Given the description of an element on the screen output the (x, y) to click on. 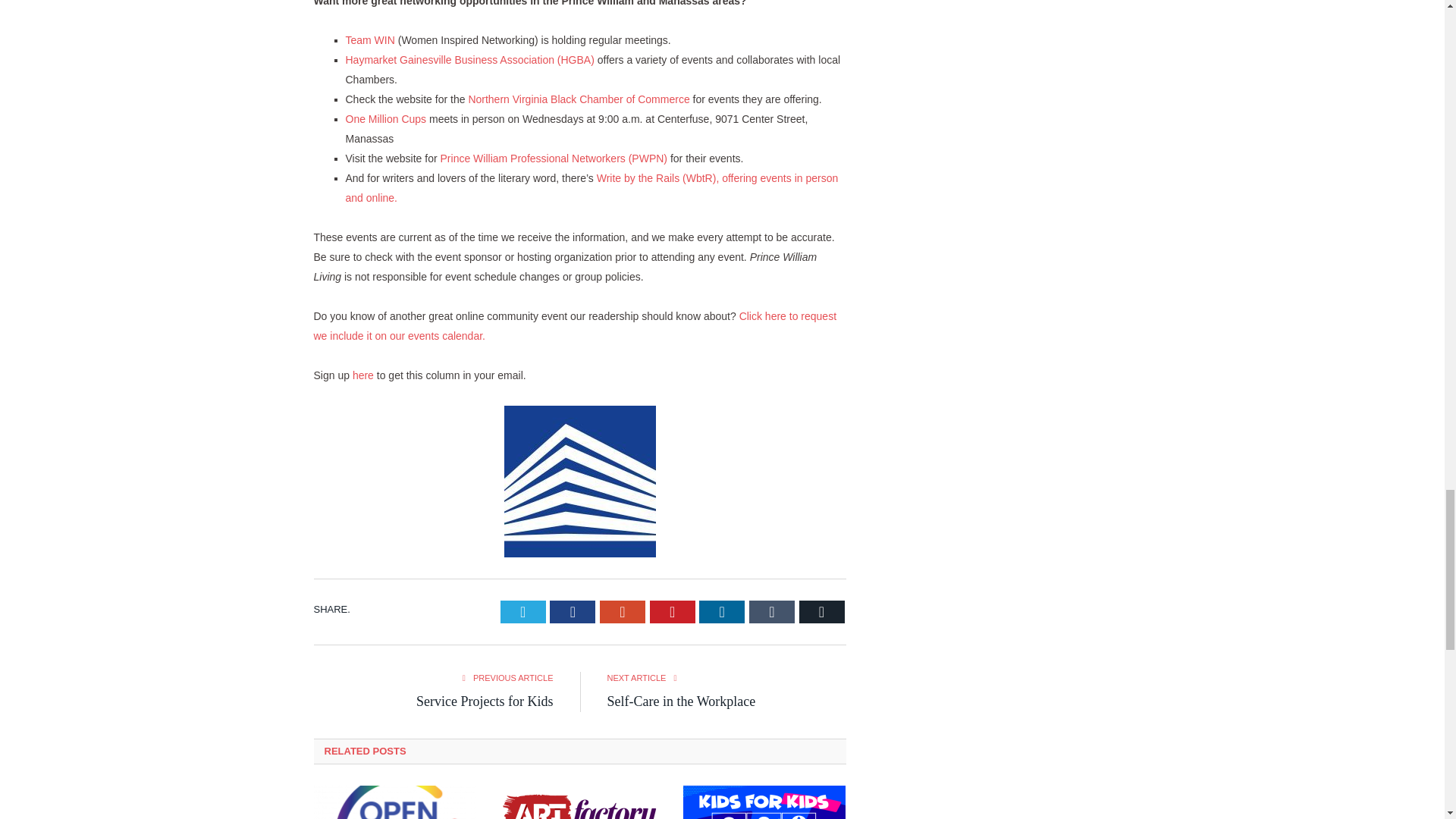
Experience the Paint Lounge! (579, 802)
Kids for Kids Triathlon Sept. 15: Call for Volunteers (763, 802)
